Given the description of an element on the screen output the (x, y) to click on. 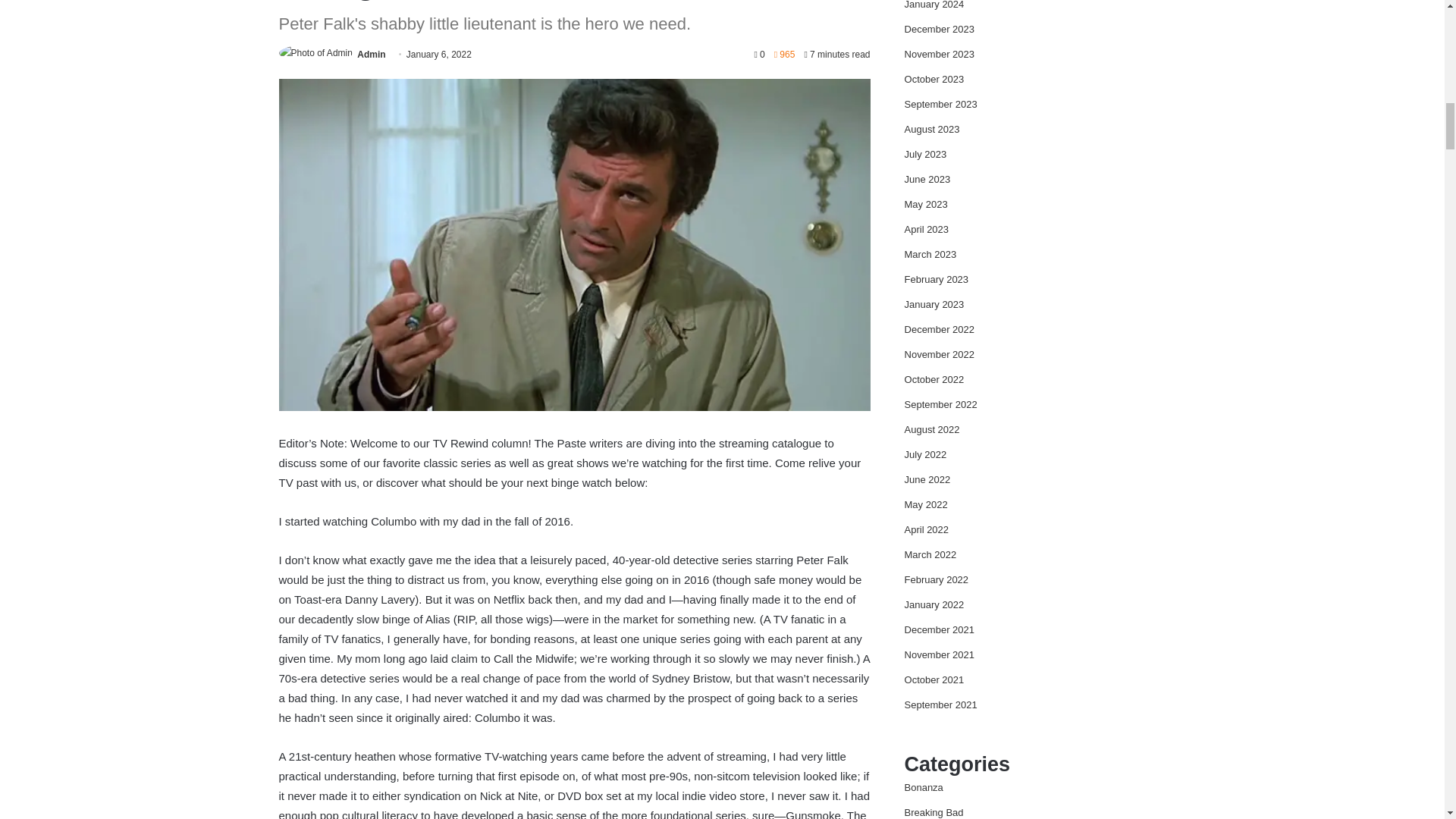
Admin (370, 54)
Admin (370, 54)
